Given the description of an element on the screen output the (x, y) to click on. 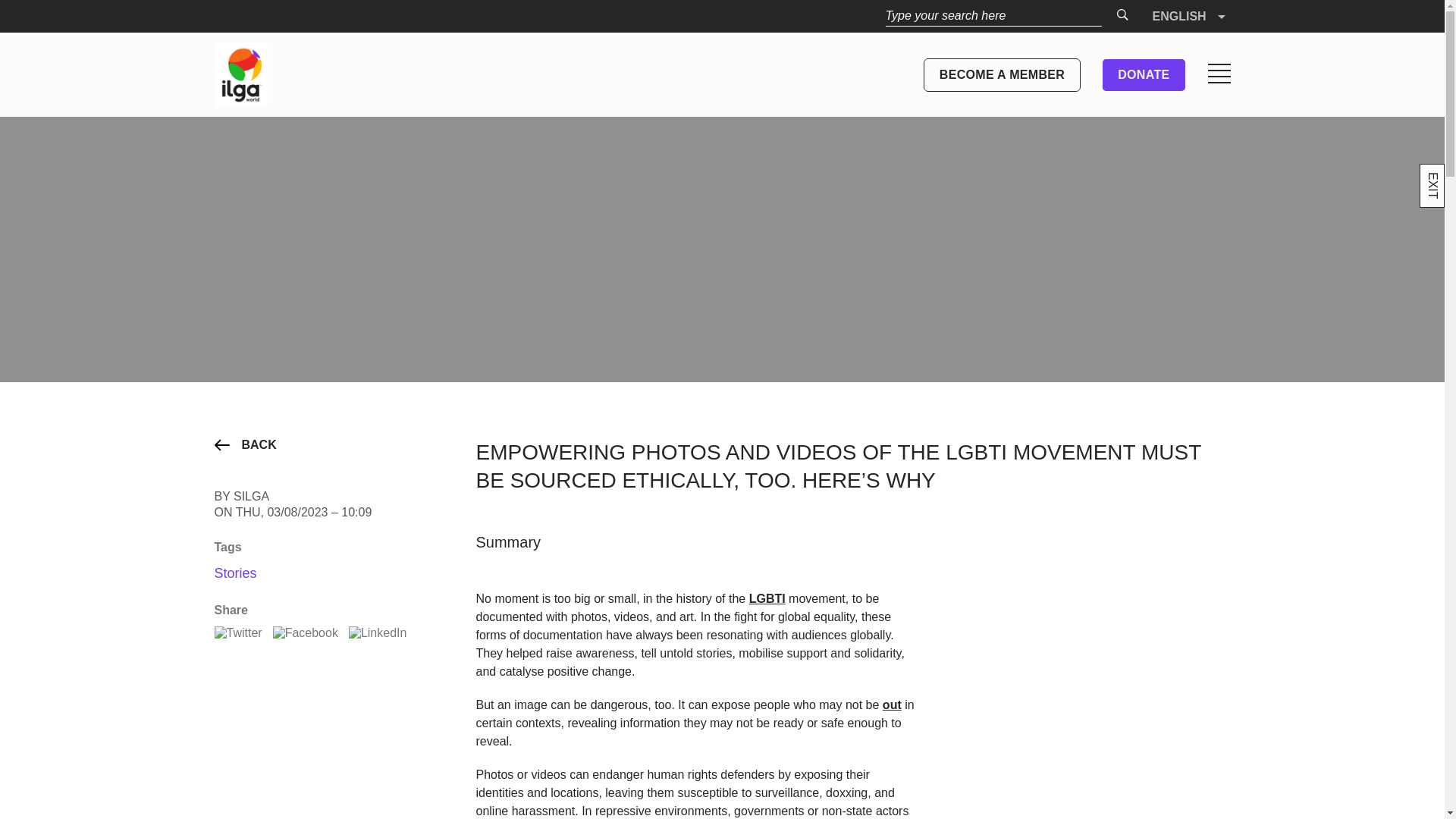
search (993, 15)
BECOME A MEMBER (1002, 74)
DONATE (1143, 74)
Open site primary navigation (1218, 74)
